Given the description of an element on the screen output the (x, y) to click on. 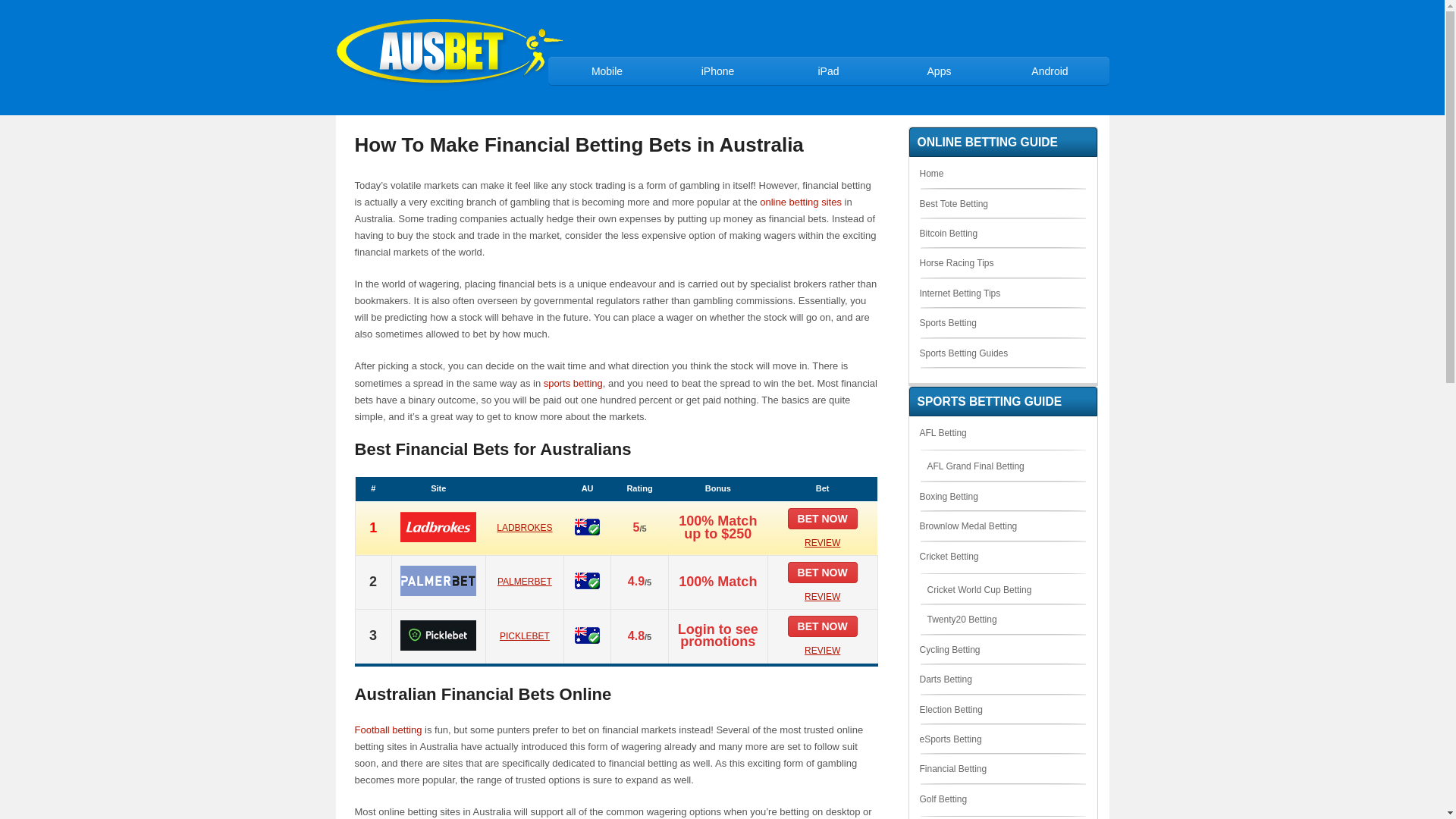
Brownlow Medal Betting Element type: text (967, 525)
Cricket World Cup Betting Element type: text (978, 589)
REVIEW Element type: text (822, 596)
eSports Betting Element type: text (950, 739)
online betting sites Element type: text (800, 201)
Mobile Element type: text (607, 70)
BET NOW Element type: text (822, 626)
AFL Grand Final Betting Element type: text (974, 466)
Golf Betting Element type: text (942, 798)
sports betting Element type: text (572, 383)
Home Element type: text (931, 173)
Sports Betting Element type: text (947, 322)
Best Tote Betting Element type: text (953, 203)
Bitcoin Betting Element type: text (948, 233)
Football betting Element type: text (388, 729)
Cricket Betting Element type: text (948, 556)
Election Betting Element type: text (950, 709)
Sports Betting Guides Element type: text (963, 352)
REVIEW Element type: text (822, 541)
Darts Betting Element type: text (945, 679)
Cycling Betting Element type: text (949, 649)
BET NOW Element type: text (822, 518)
Twenty20 Betting Element type: text (961, 619)
Android Element type: text (1049, 70)
Horse Racing Tips Element type: text (956, 262)
AFL Betting Element type: text (942, 432)
Internet Betting Tips Element type: text (959, 293)
Boxing Betting Element type: text (948, 496)
iPhone Element type: text (717, 70)
Financial Betting Element type: text (952, 768)
Apps Element type: text (939, 70)
iPad Element type: text (828, 70)
Online Betting Element type: hover (448, 84)
REVIEW Element type: text (822, 650)
BET NOW Element type: text (822, 572)
